Given the description of an element on the screen output the (x, y) to click on. 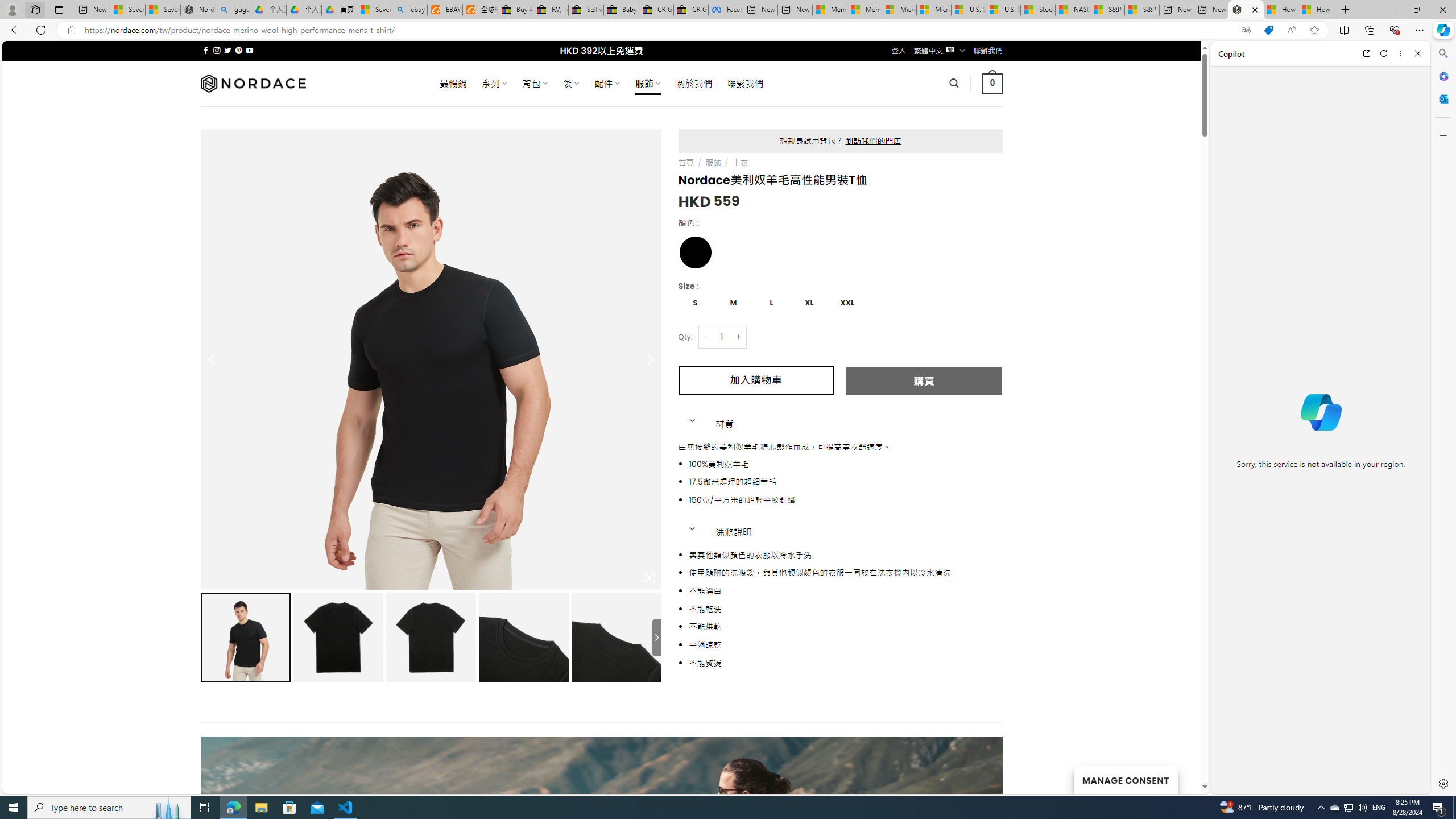
Follow on Pinterest (237, 50)
Show translate options (1245, 29)
Side bar (1443, 418)
guge yunpan - Search (233, 9)
